Given the description of an element on the screen output the (x, y) to click on. 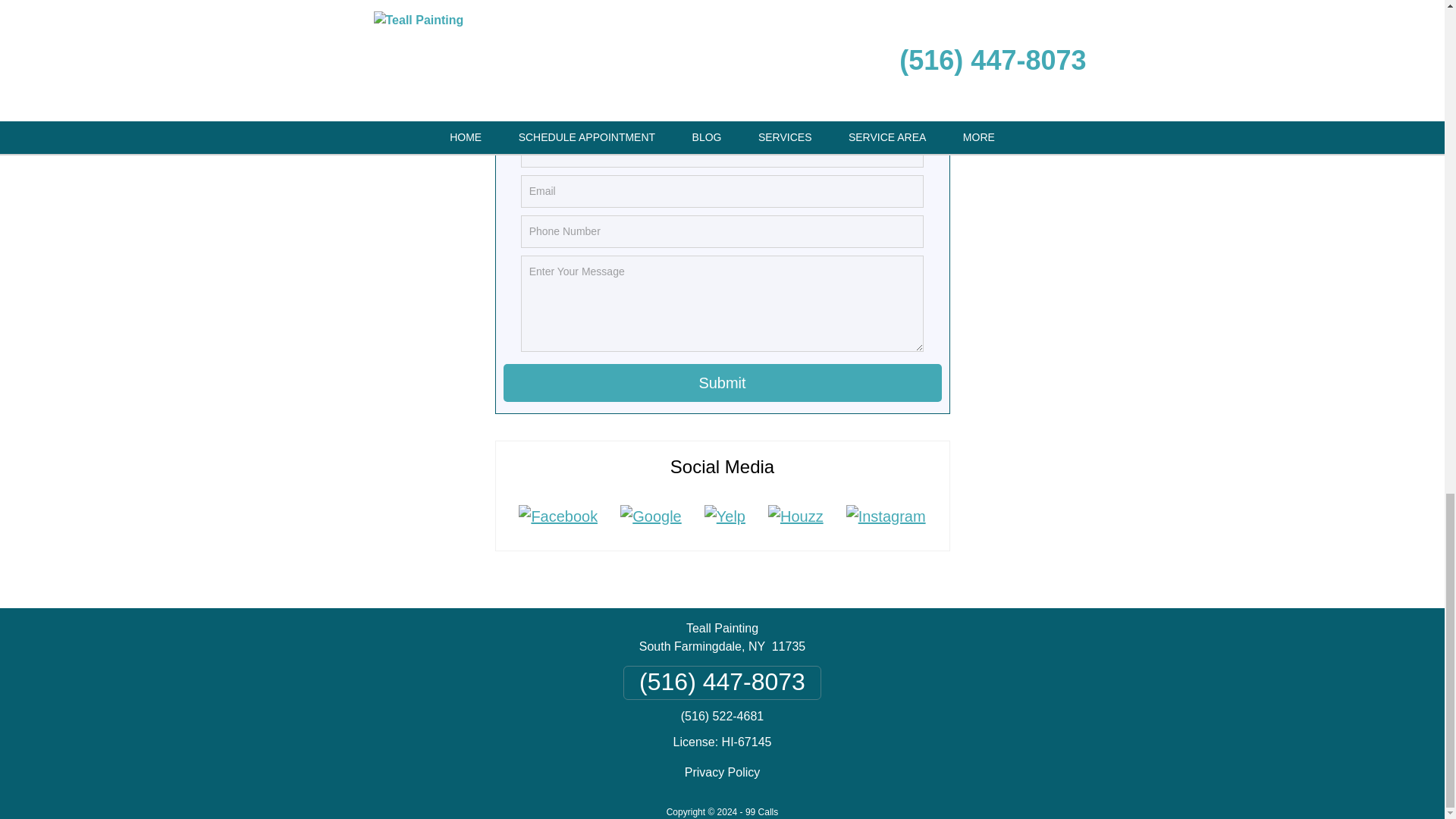
Facebook (557, 515)
Yelp (725, 515)
Google (650, 515)
Houzz (795, 515)
Instagram (885, 515)
